Given the description of an element on the screen output the (x, y) to click on. 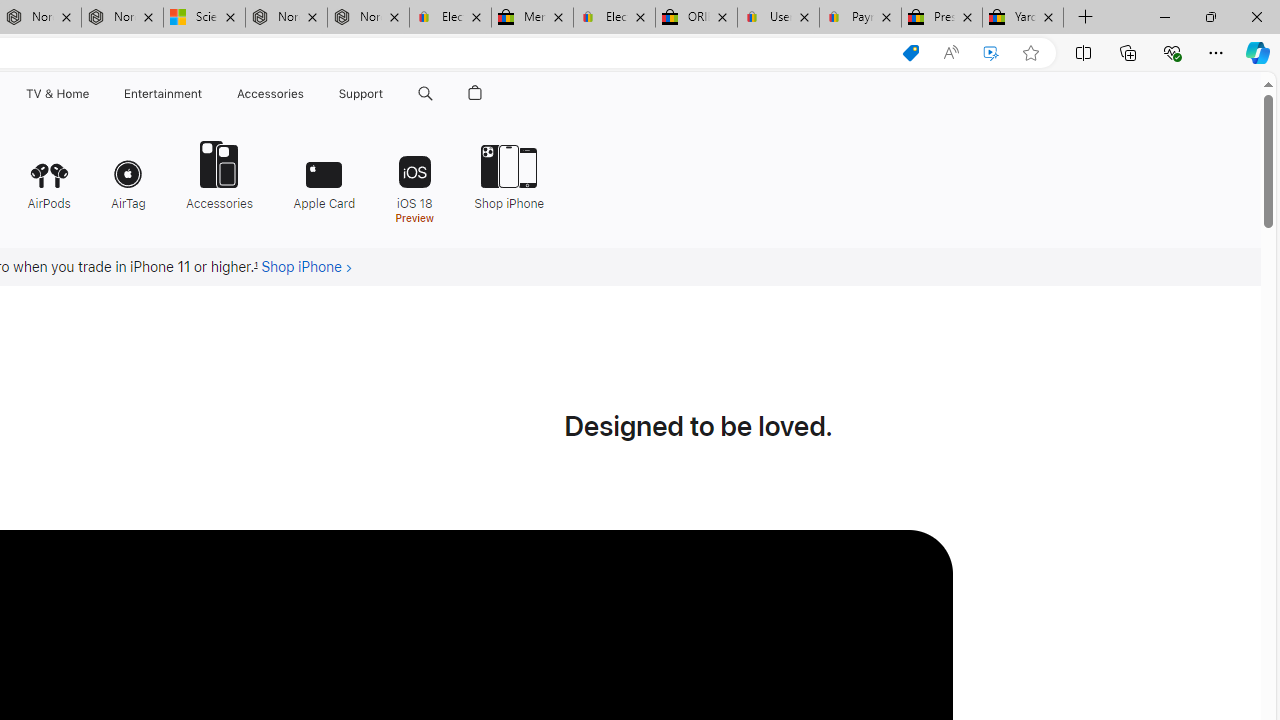
AutomationID: globalnav-bag (475, 93)
Shopping Bag (475, 93)
Footnote 1 (255, 267)
Press Room - eBay Inc. (941, 17)
iOS 18Preview (414, 179)
Shop iPhone (509, 173)
